Given the description of an element on the screen output the (x, y) to click on. 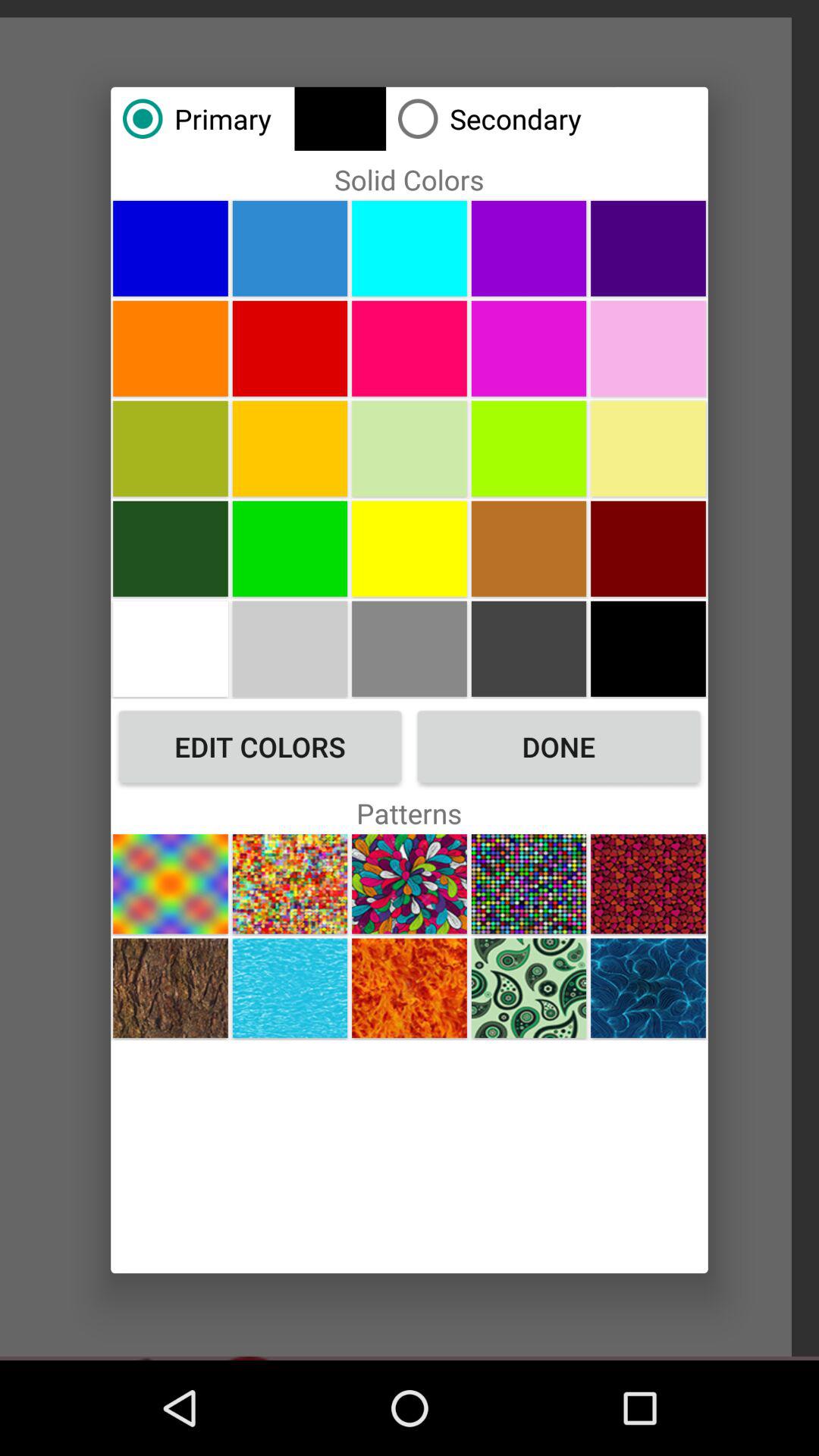
select pattern (647, 883)
